Given the description of an element on the screen output the (x, y) to click on. 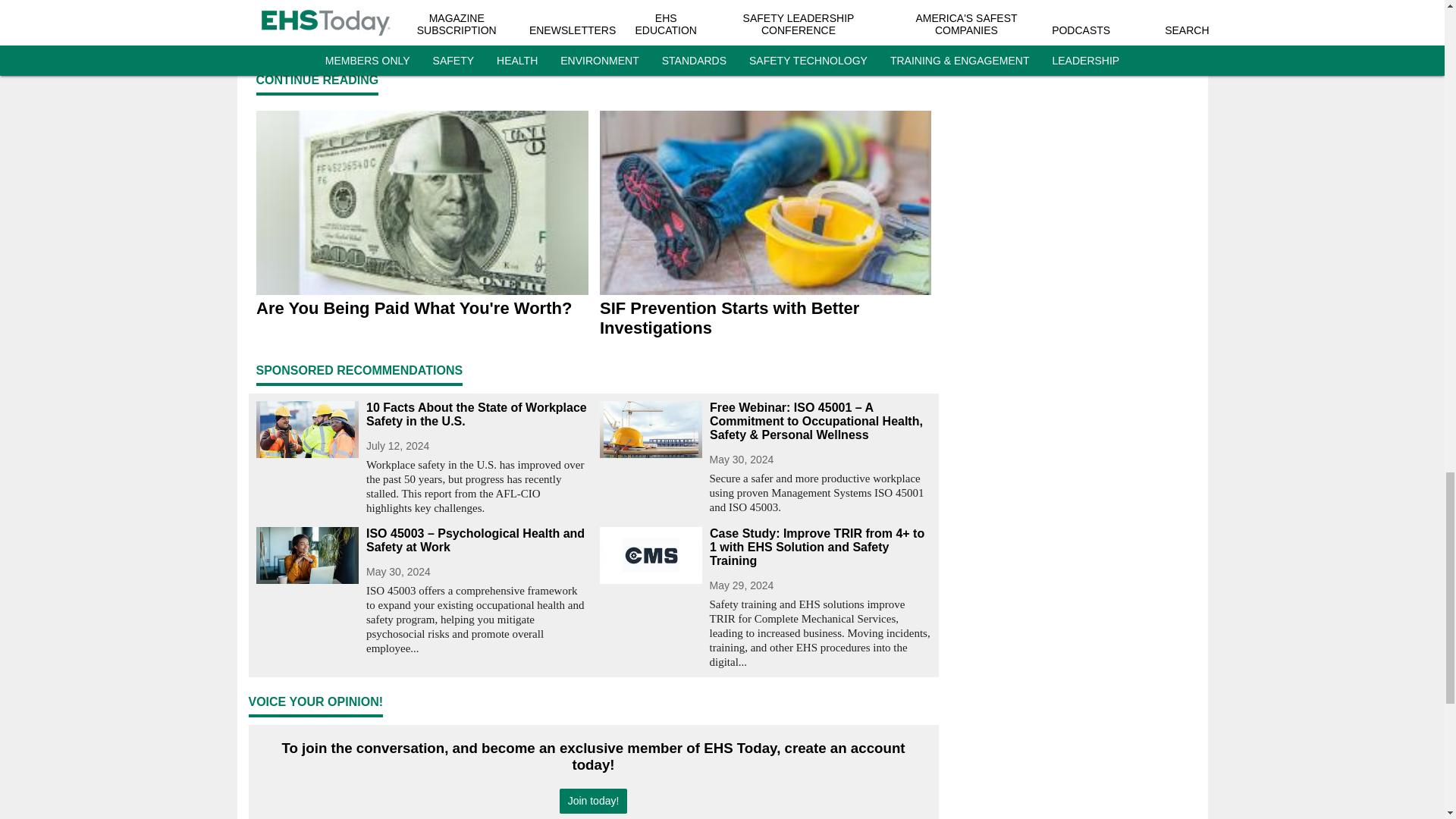
Join today! (593, 801)
Are You Being Paid What You're Worth? (422, 308)
10 Facts About the State of Workplace Safety in the U.S. (476, 414)
SIF Prevention Starts with Better Investigations (764, 318)
